Given the description of an element on the screen output the (x, y) to click on. 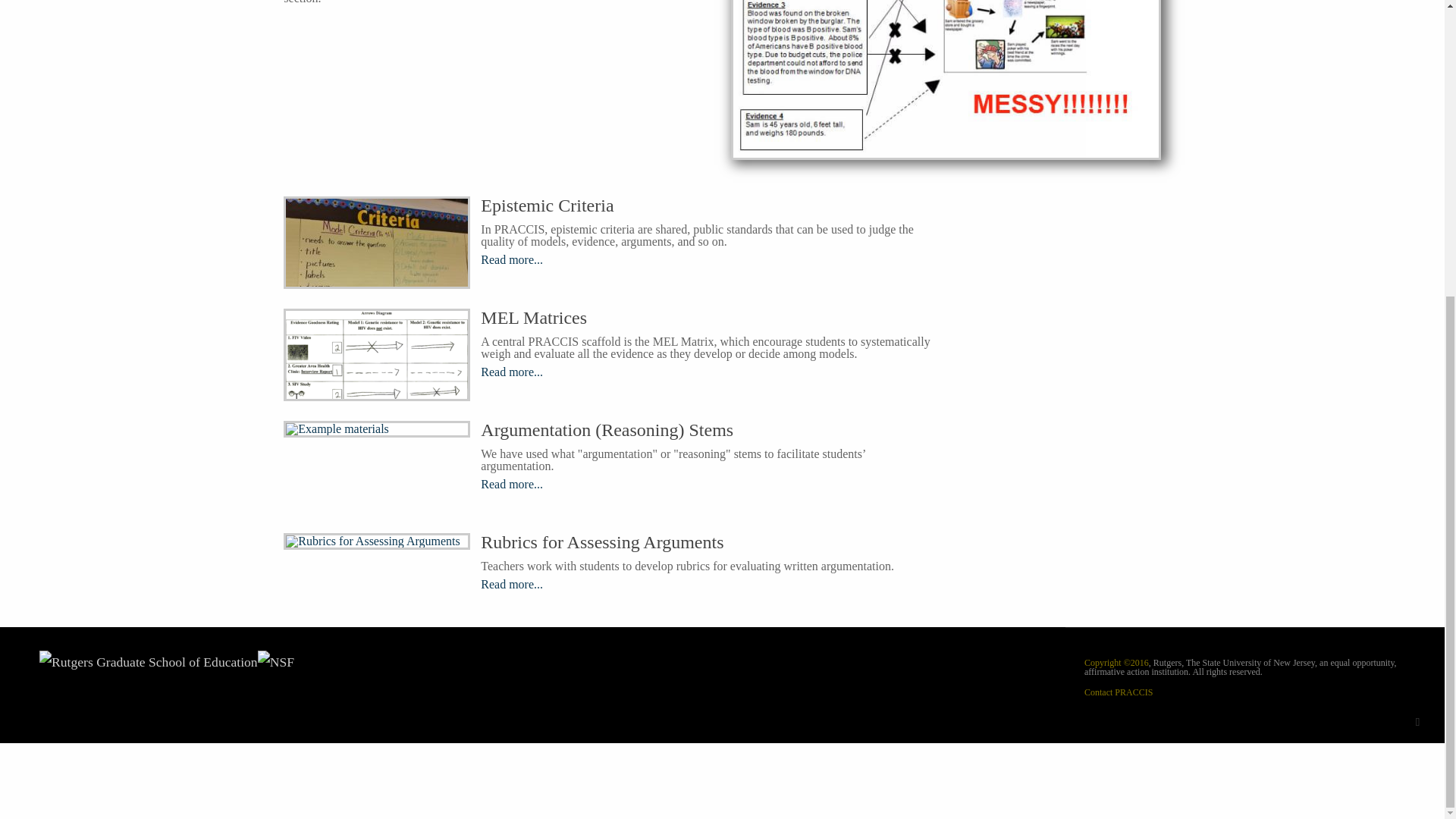
Facebook (1417, 721)
